Given the description of an element on the screen output the (x, y) to click on. 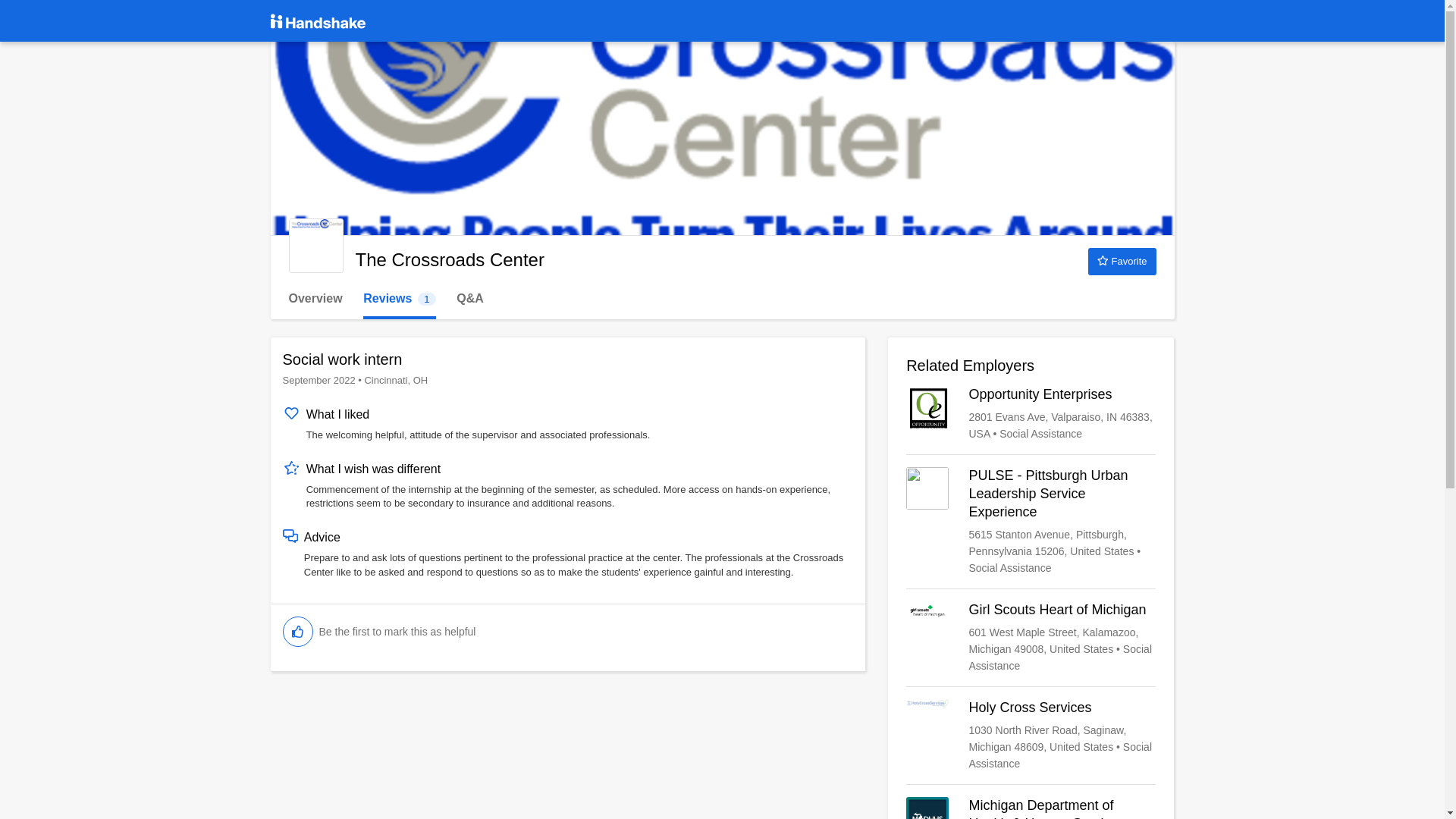
Holy Cross Services (1030, 735)
PULSE - Pittsburgh Urban Leadership Service Experience (1030, 521)
Girl Scouts Heart of Michigan (1030, 637)
Mark this as helpful (297, 631)
Opportunity Enterprises (398, 298)
Favorite (1030, 413)
Overview (1121, 261)
The Crossroads Center (315, 298)
